Given the description of an element on the screen output the (x, y) to click on. 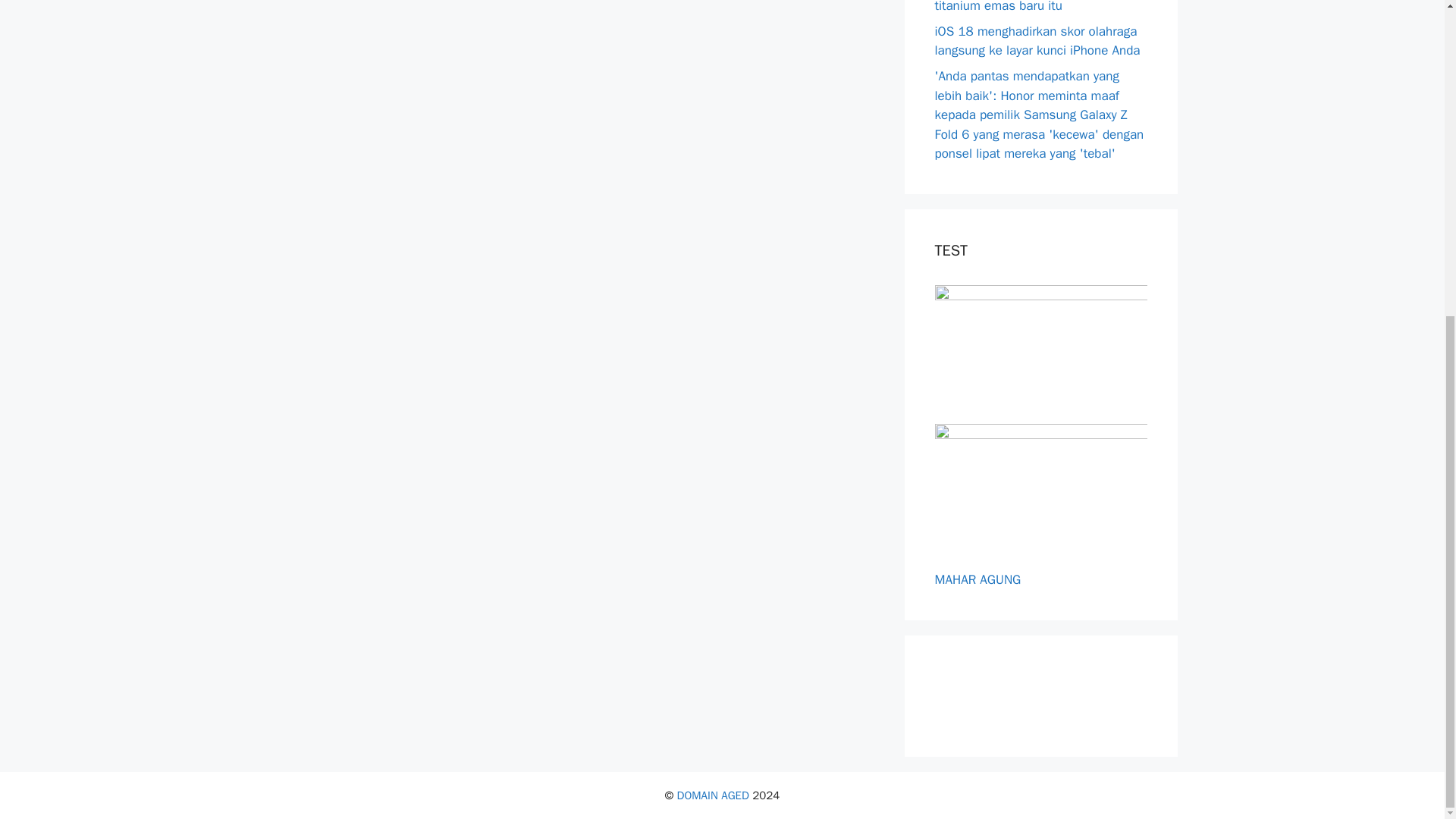
DOMAIN AGED (713, 794)
MAHAR AGUNG (977, 579)
